Given the description of an element on the screen output the (x, y) to click on. 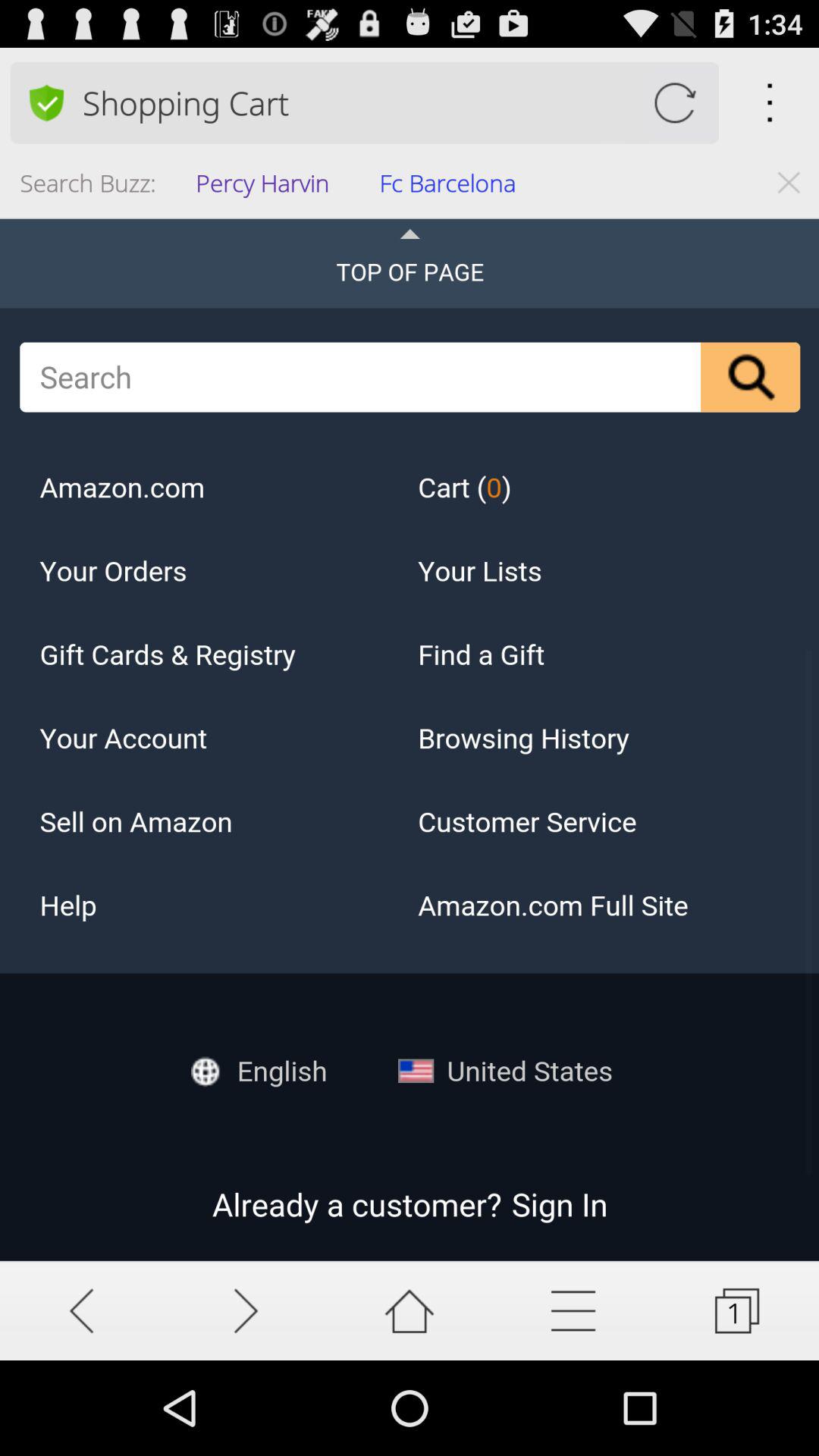
scroll to the percy harvin (267, 187)
